Given the description of an element on the screen output the (x, y) to click on. 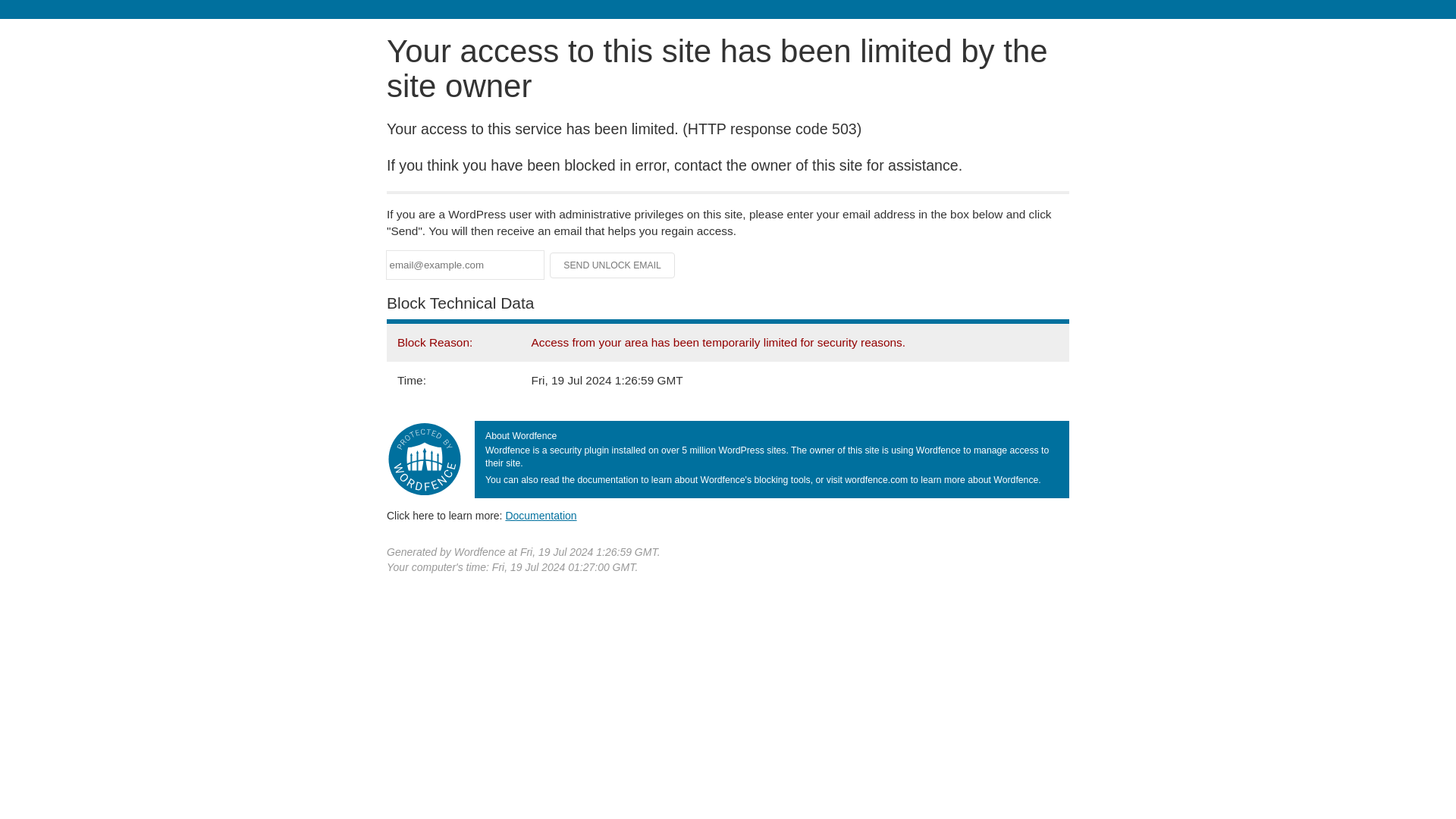
Documentation (540, 515)
Send Unlock Email (612, 265)
Send Unlock Email (612, 265)
